Given the description of an element on the screen output the (x, y) to click on. 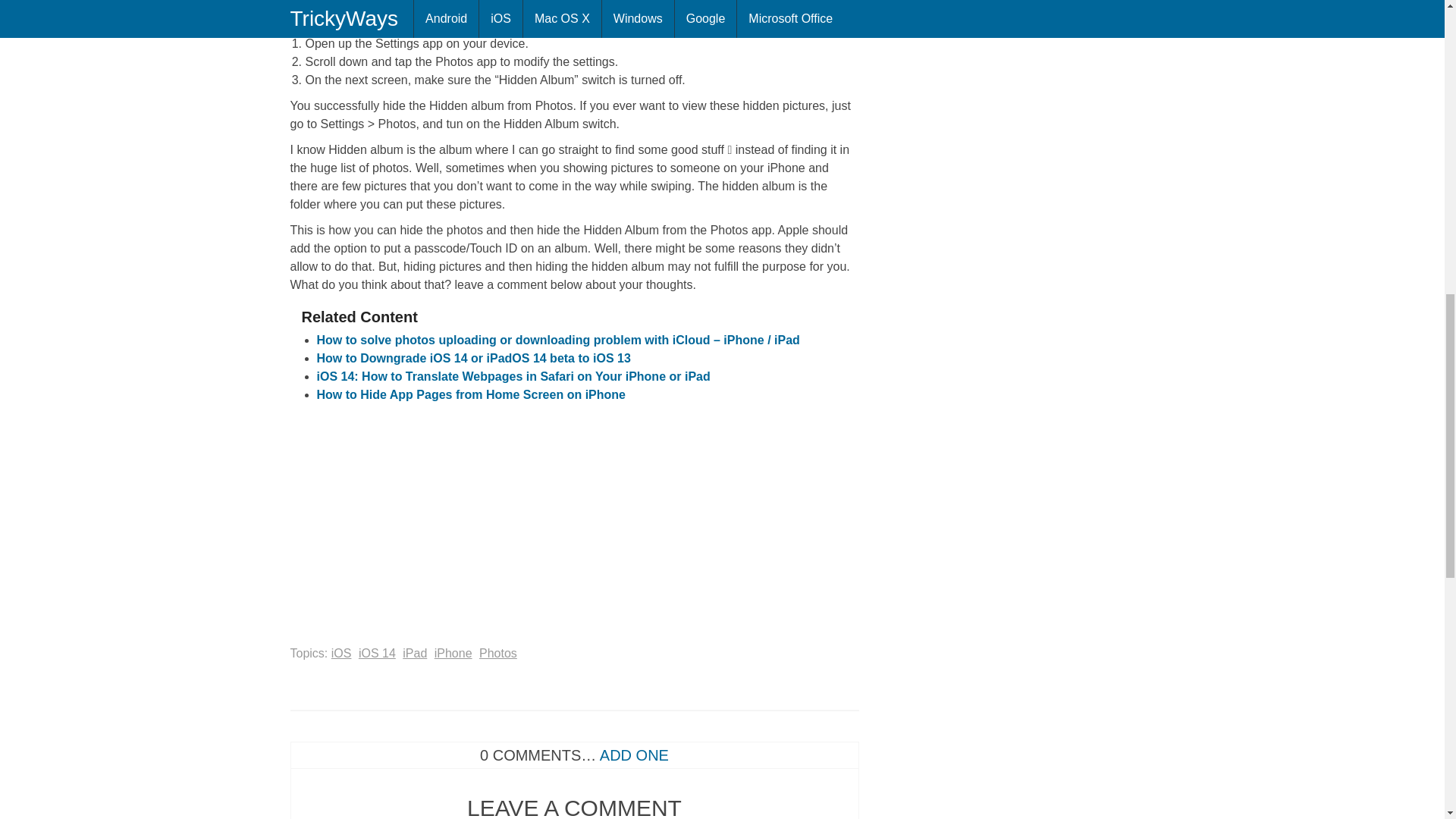
iPhone (452, 653)
Photos (497, 653)
iPad (414, 653)
How to Downgrade iOS 14 or iPadOS 14 beta to iOS 13 (473, 358)
ADD ONE (633, 754)
iOS 14 (377, 653)
iOS (341, 653)
How to Downgrade iOS 14 or iPadOS 14 beta to iOS 13 (473, 358)
How to Hide App Pages from Home Screen on iPhone (471, 394)
